Given the description of an element on the screen output the (x, y) to click on. 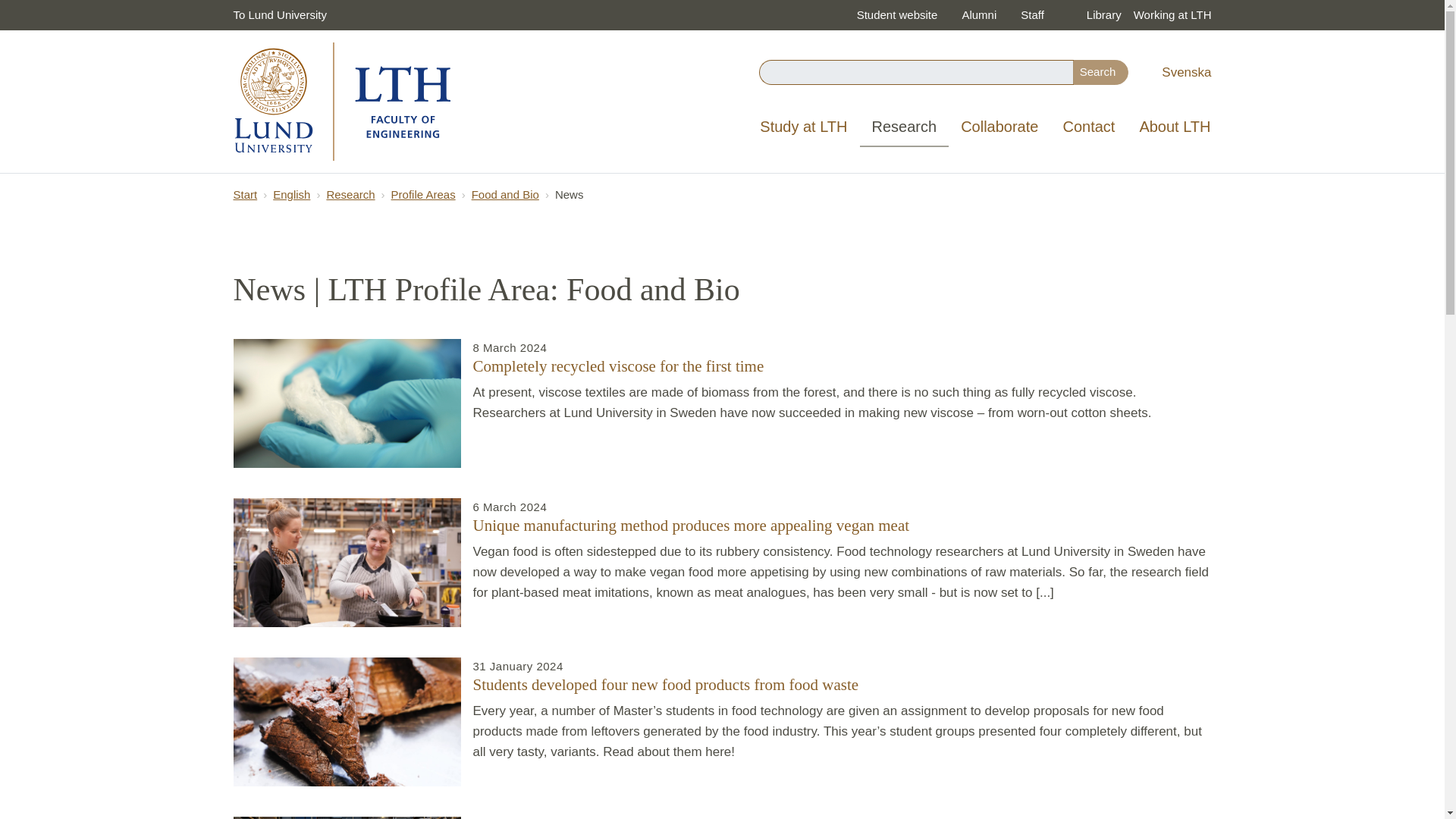
Working at LTH (1171, 15)
Library (1103, 15)
Research (904, 126)
Study at LTH (803, 126)
To Lund University (280, 15)
Search (1101, 72)
Svenska (1184, 72)
Staff (1033, 15)
Staff (1033, 15)
Student website (897, 15)
Student website (897, 15)
Library (1103, 15)
Working at LTH (1171, 15)
Research (904, 126)
FACULTY OF ENGINEERING LTH (342, 101)
